Given the description of an element on the screen output the (x, y) to click on. 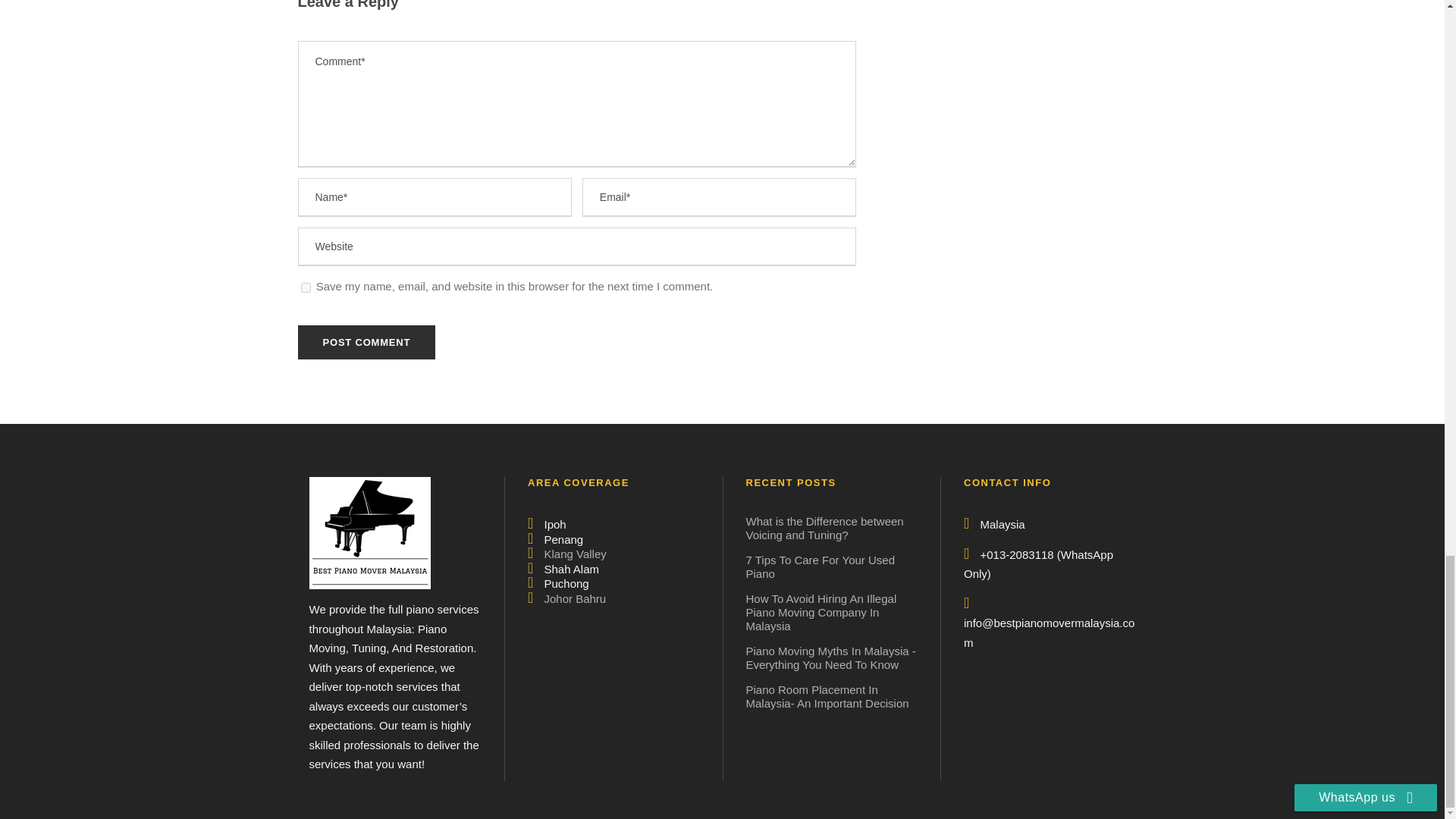
yes (304, 287)
Post Comment (366, 342)
